Given the description of an element on the screen output the (x, y) to click on. 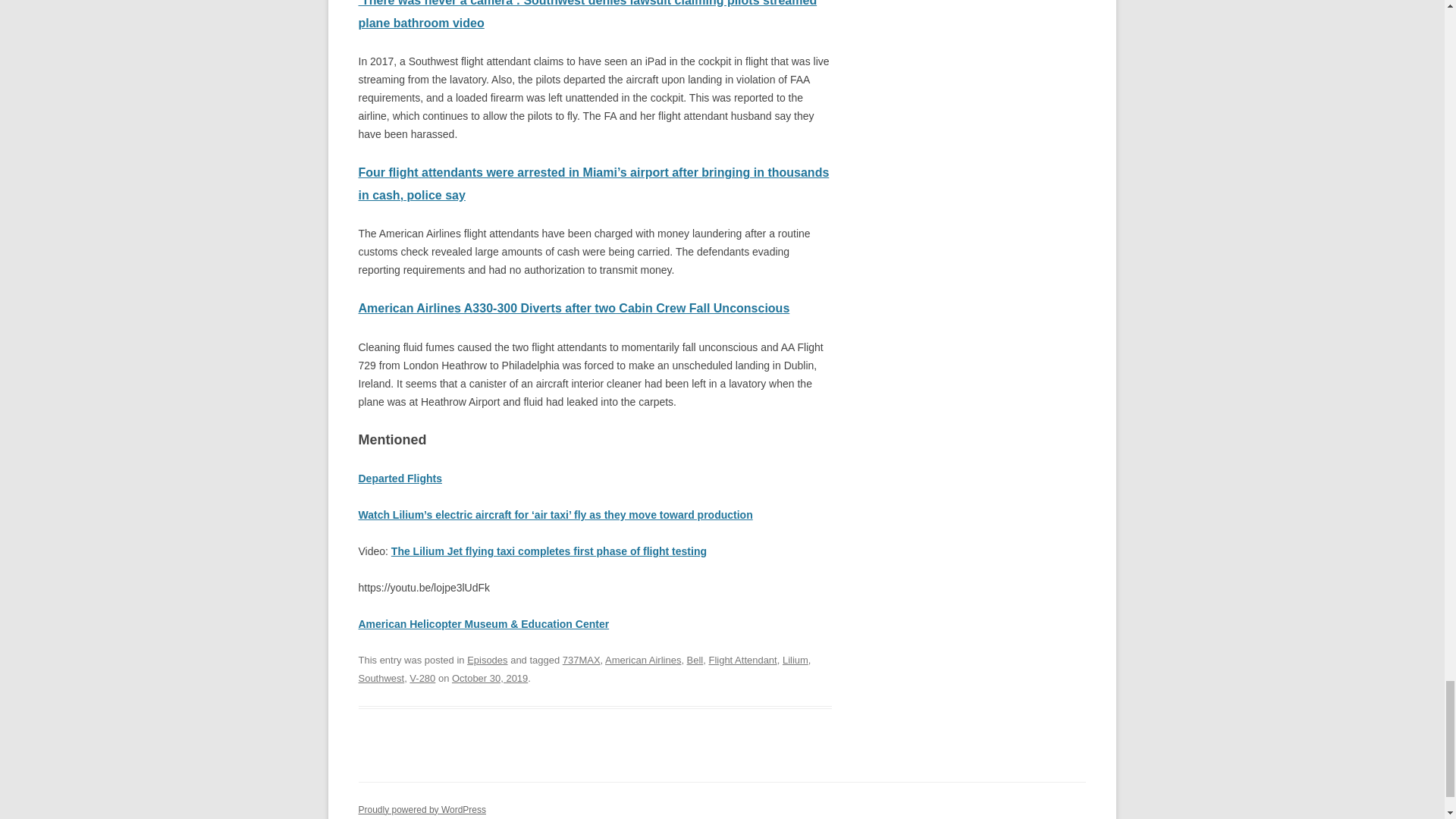
10:03 am (489, 677)
